Given the description of an element on the screen output the (x, y) to click on. 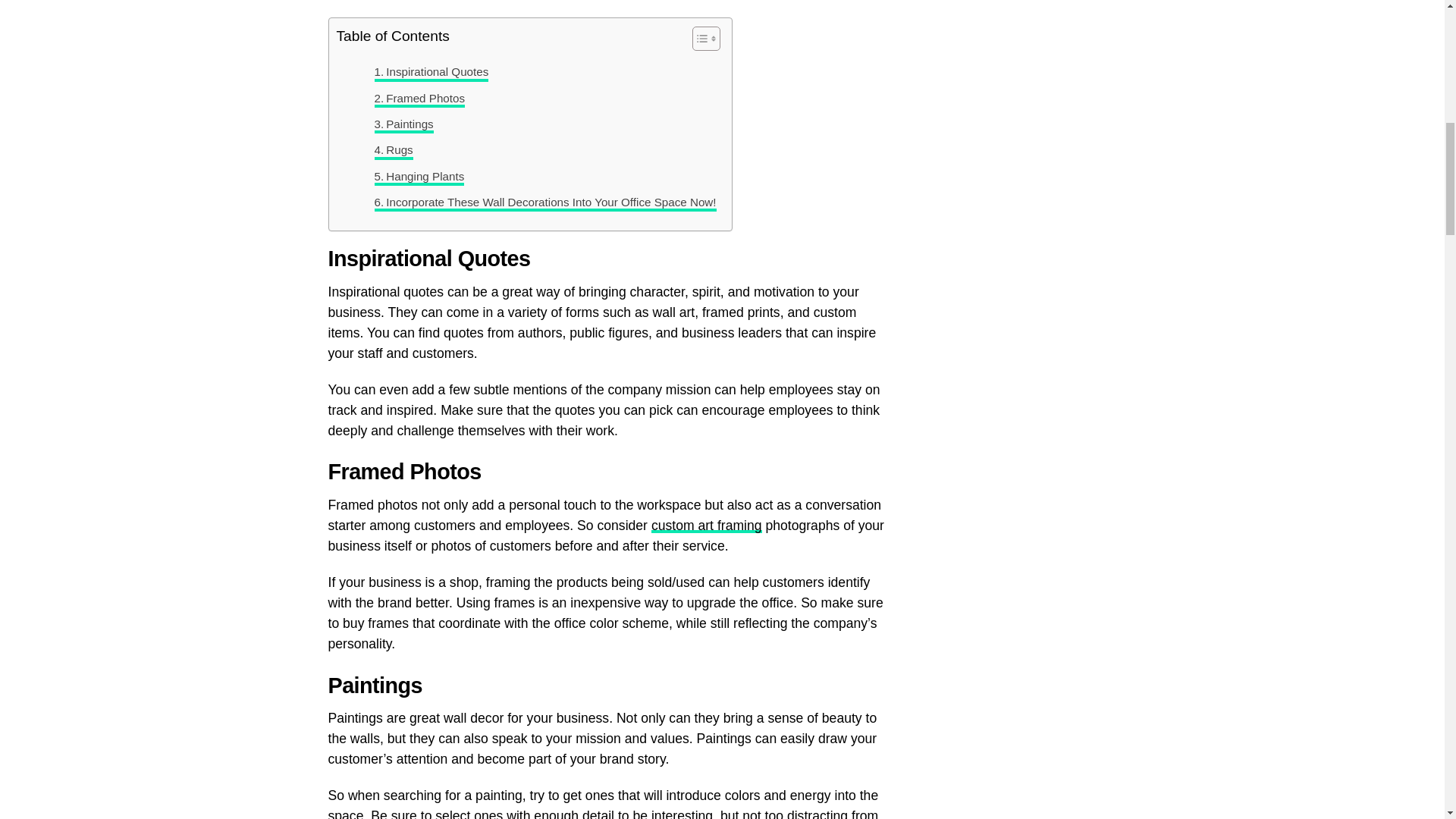
Hanging Plants (419, 176)
Framed Photos (419, 98)
Paintings (403, 124)
Rugs (393, 149)
Inspirational Quotes (431, 72)
